Given the description of an element on the screen output the (x, y) to click on. 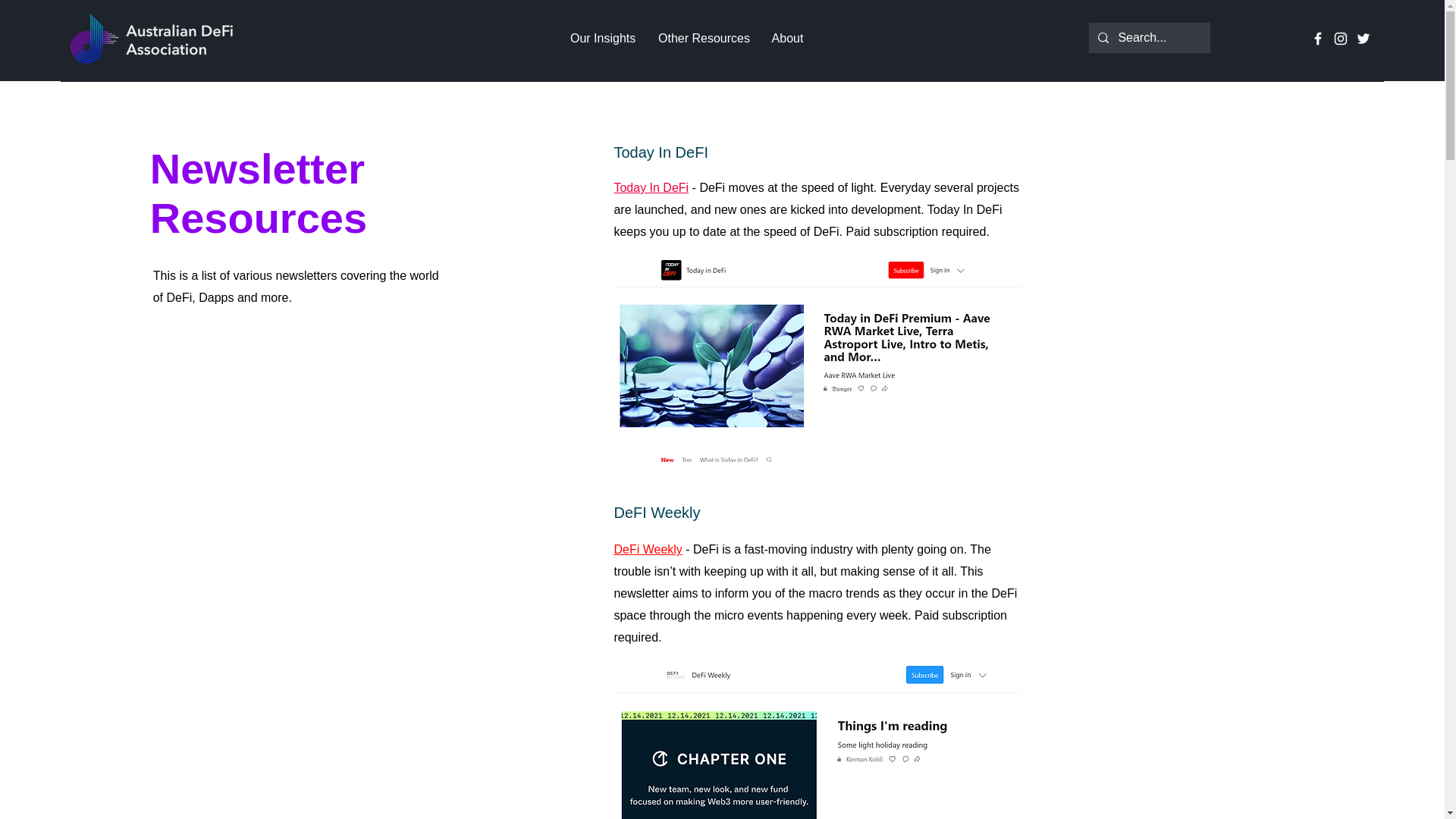
Today In DeFi (650, 187)
Transparent.png (152, 39)
DeFi Weekly (646, 549)
